Given the description of an element on the screen output the (x, y) to click on. 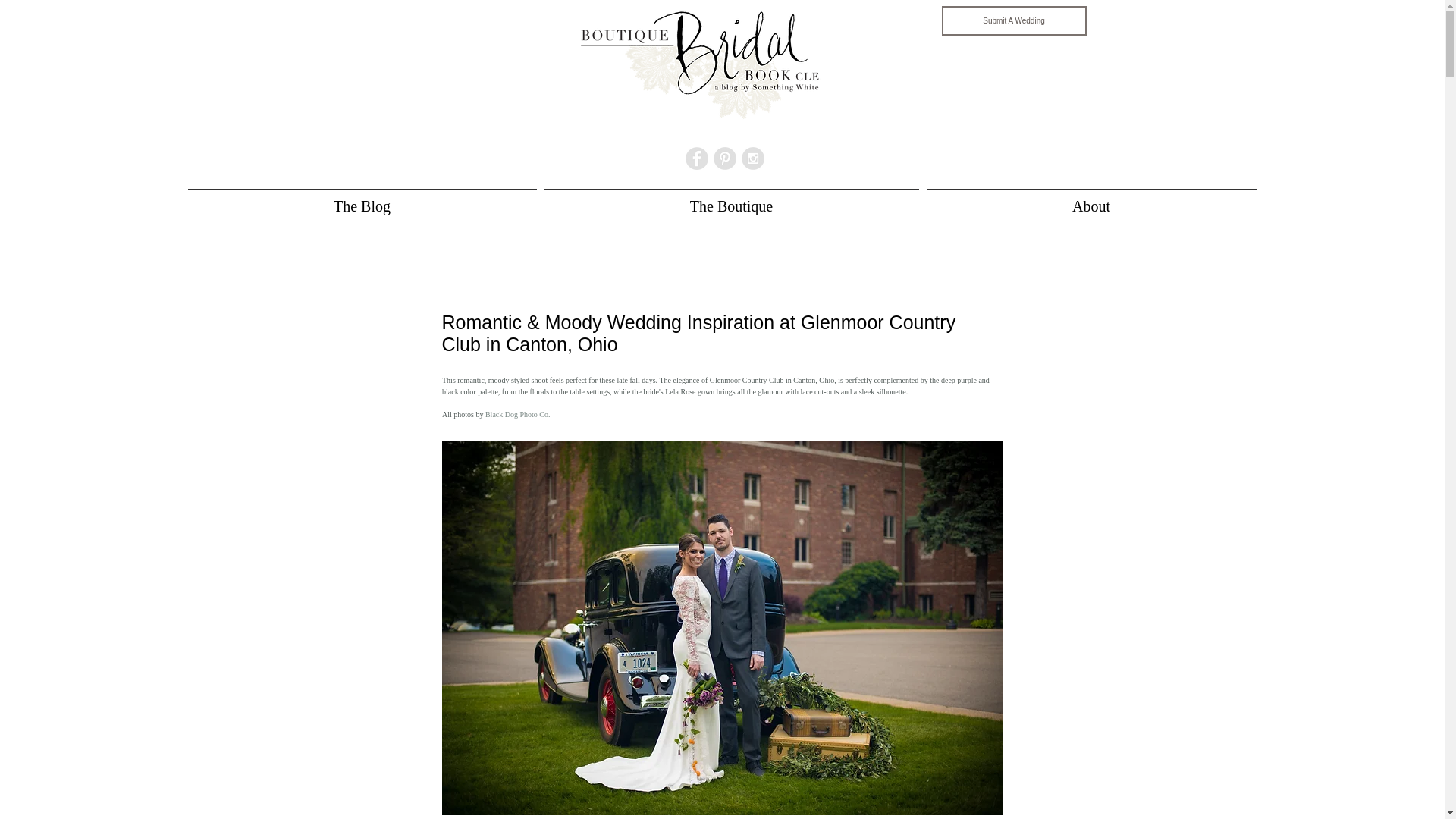
The Boutique (730, 206)
About (1088, 206)
Submit A Wedding (1014, 20)
Black Dog Photo Co. (517, 414)
The Blog (363, 206)
